Given the description of an element on the screen output the (x, y) to click on. 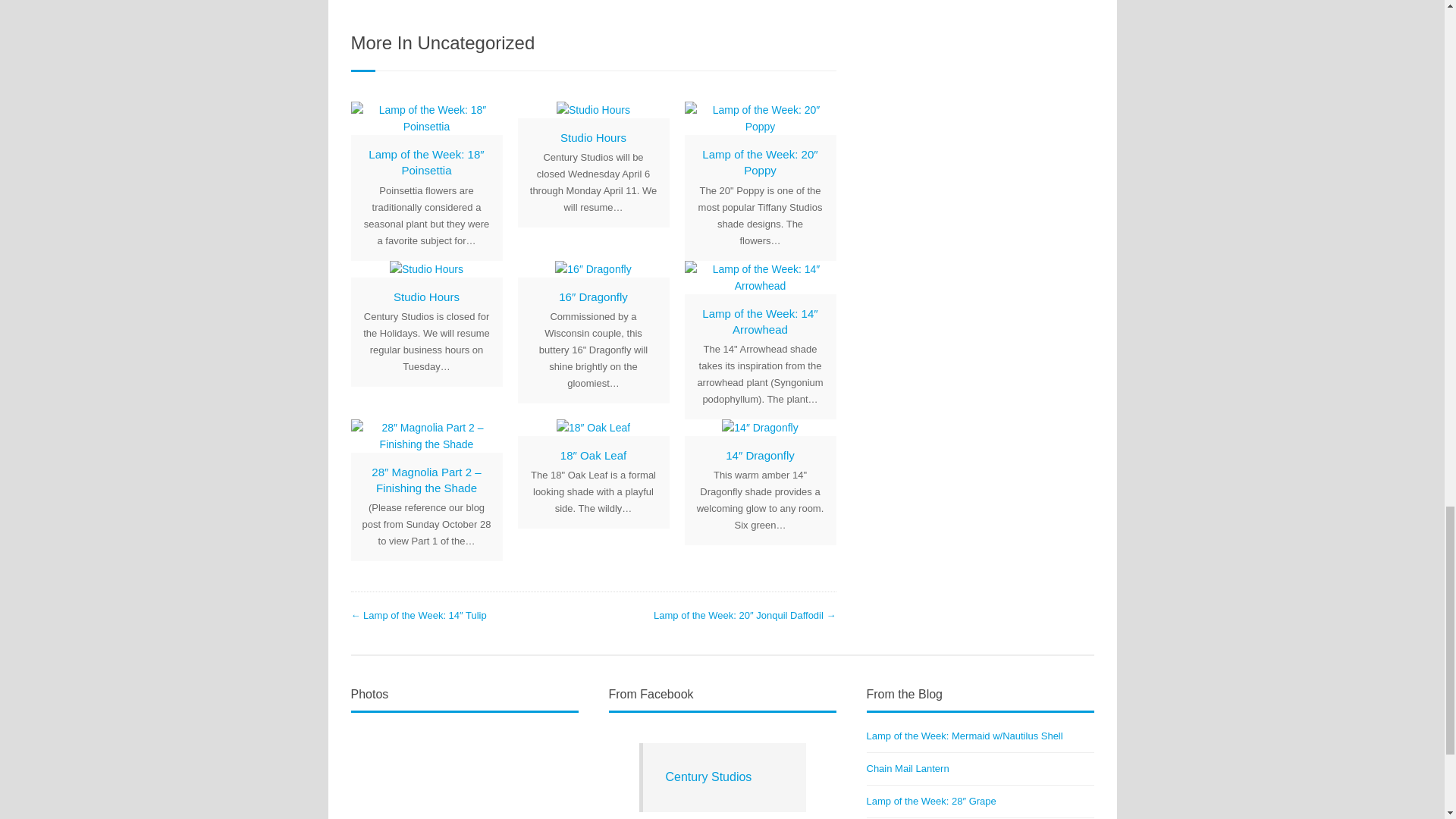
Studio Hours (593, 137)
Studio Hours (426, 296)
Studio Hours (592, 109)
Studio Hours (593, 137)
Studio Hours (426, 269)
Studio Hours (426, 296)
